Given the description of an element on the screen output the (x, y) to click on. 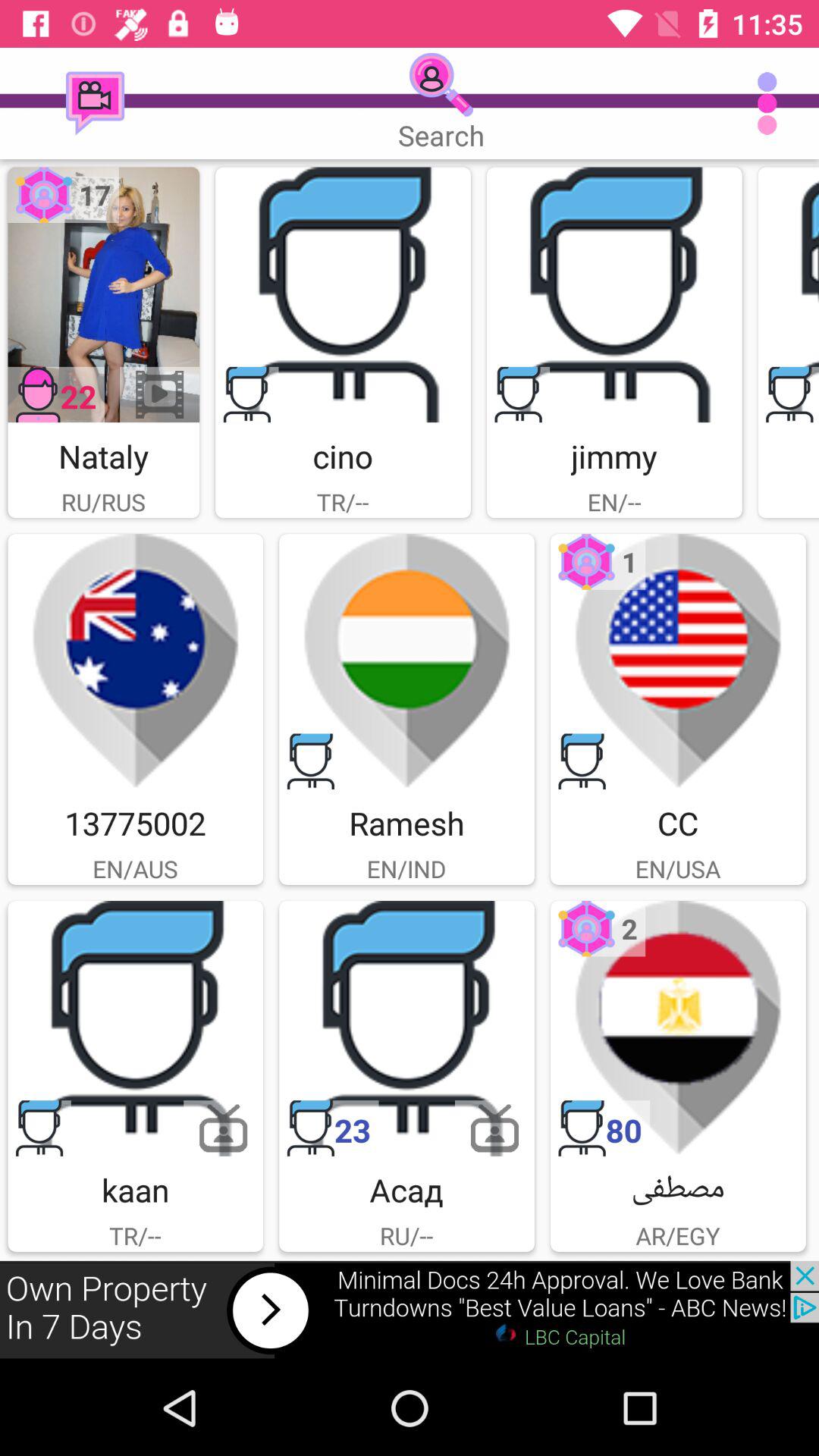
to select a particular profile (135, 1028)
